Given the description of an element on the screen output the (x, y) to click on. 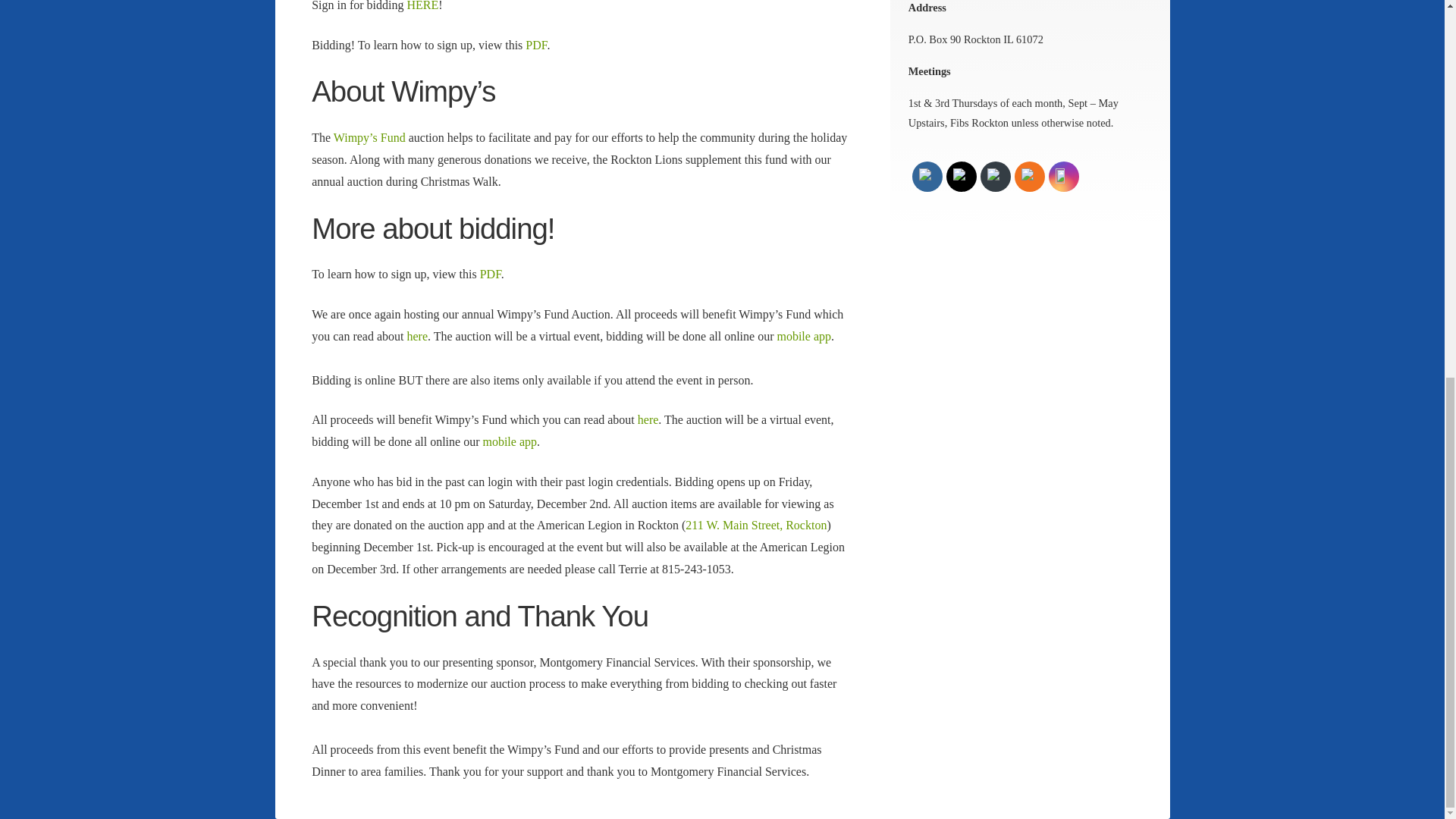
Twitter (961, 176)
PDF (490, 273)
Facebook (927, 176)
PDF (536, 44)
HERE (423, 5)
here (417, 336)
Follow by Email (995, 176)
RSS (1030, 176)
